Given the description of an element on the screen output the (x, y) to click on. 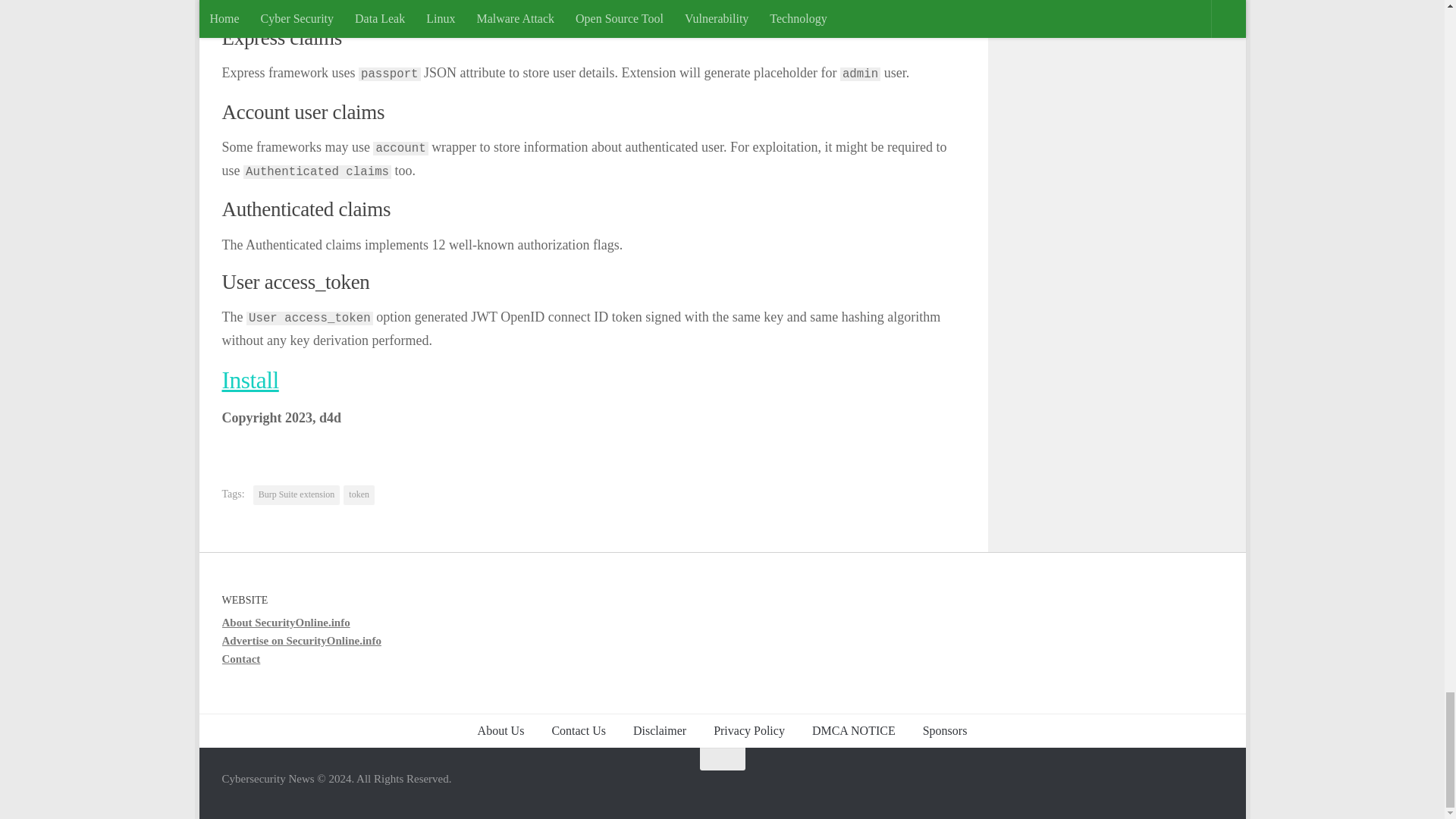
token (358, 495)
Install (249, 379)
Burp Suite extension (296, 495)
